Given the description of an element on the screen output the (x, y) to click on. 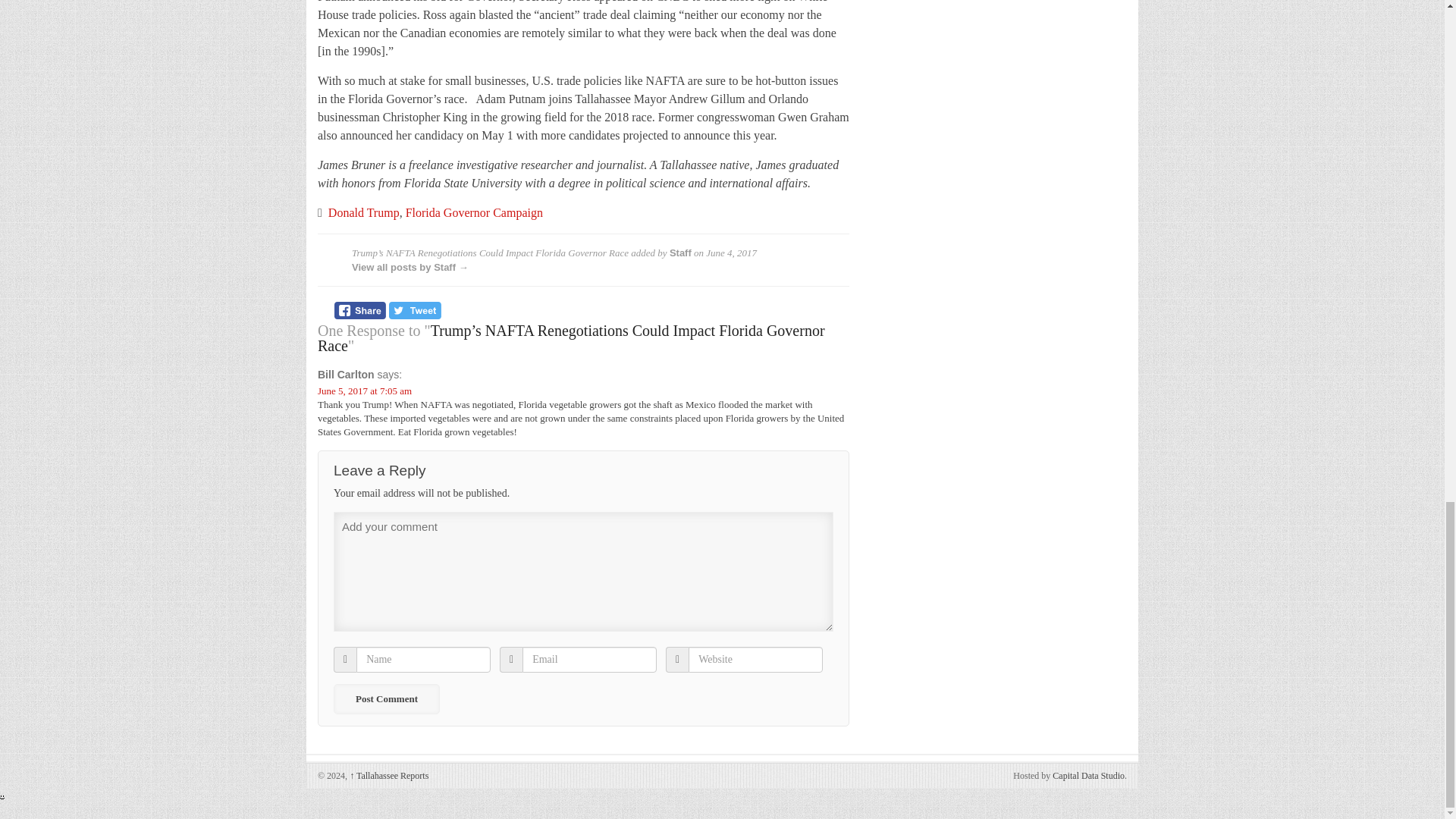
Post Comment (386, 698)
